Given the description of an element on the screen output the (x, y) to click on. 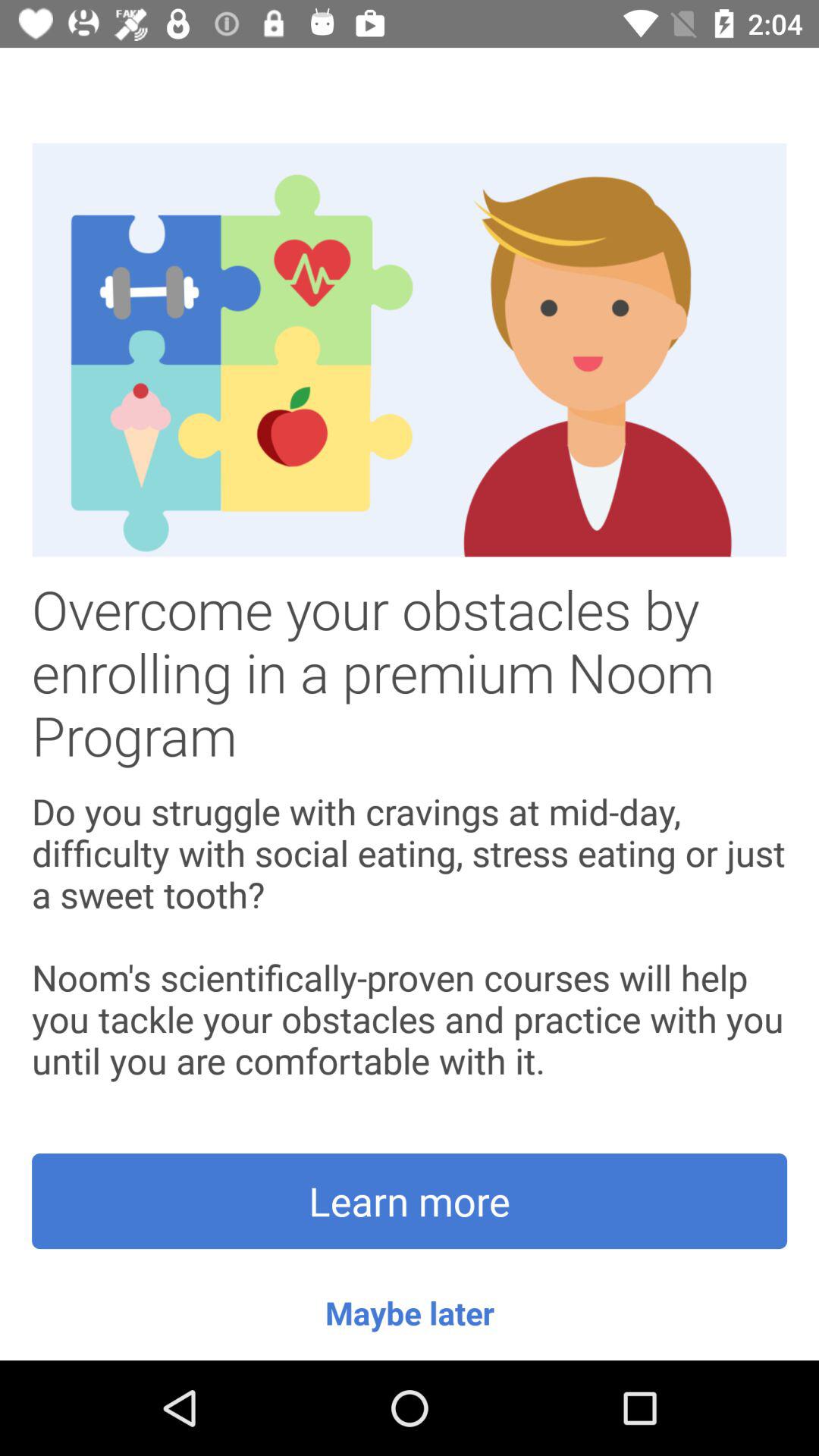
press the icon above maybe later item (409, 1200)
